Given the description of an element on the screen output the (x, y) to click on. 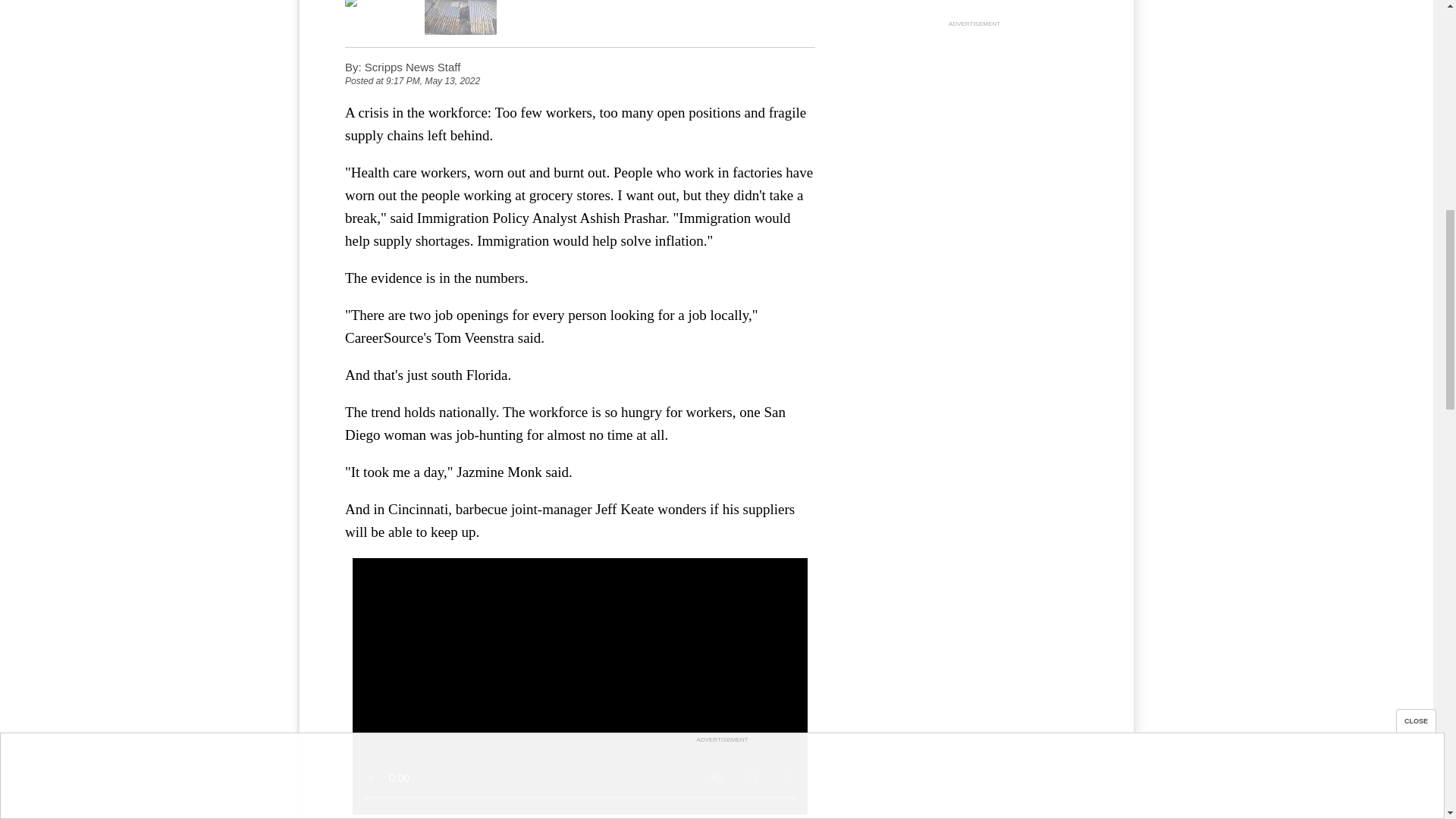
3rd party ad content (973, 125)
